Given the description of an element on the screen output the (x, y) to click on. 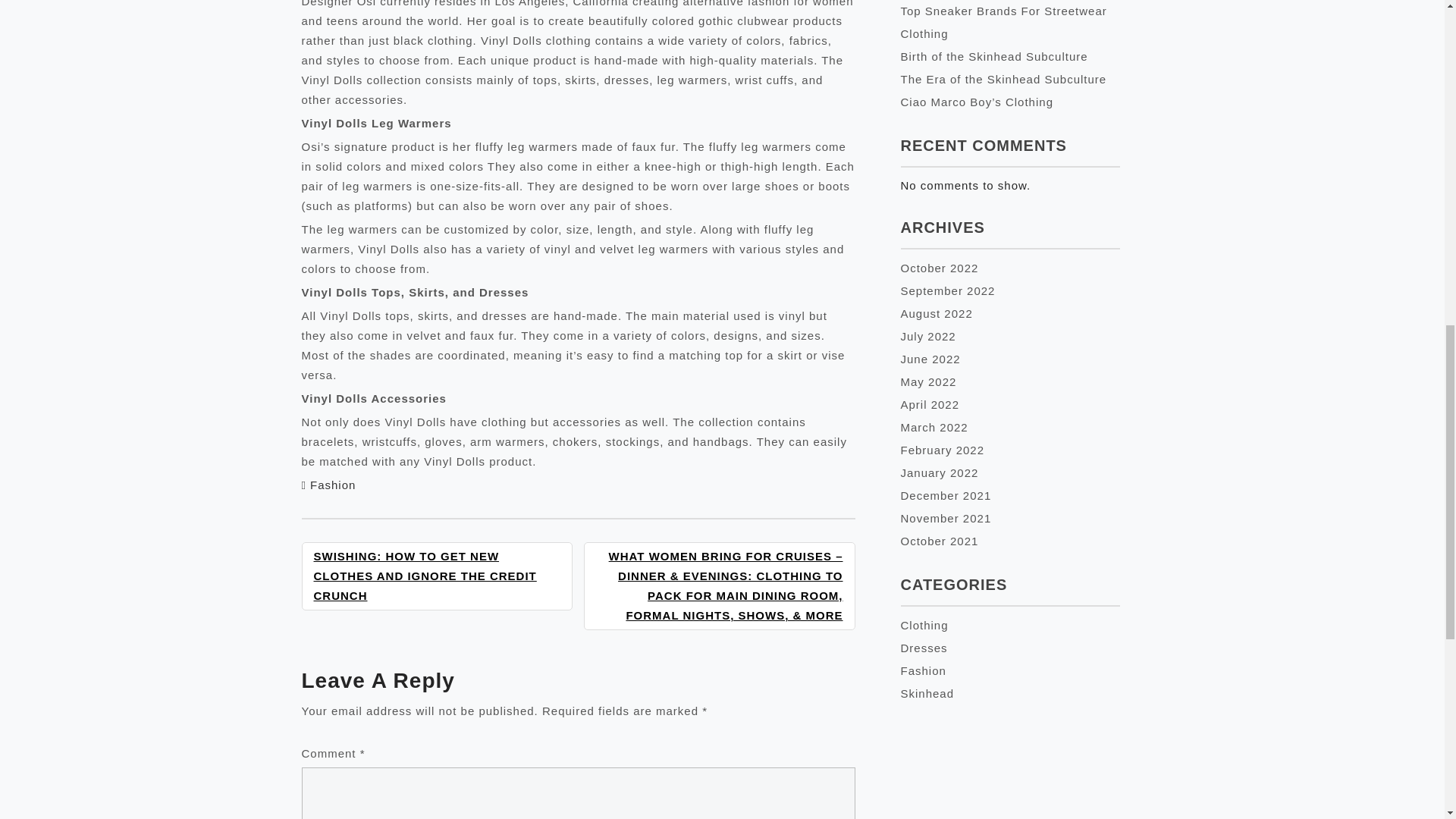
Top Sneaker Brands For Streetwear Clothing (1003, 22)
June 2022 (930, 358)
November 2021 (946, 517)
December 2021 (946, 495)
March 2022 (934, 427)
April 2022 (930, 404)
January 2022 (939, 472)
October 2021 (939, 540)
May 2022 (928, 381)
October 2022 (939, 267)
